Given the description of an element on the screen output the (x, y) to click on. 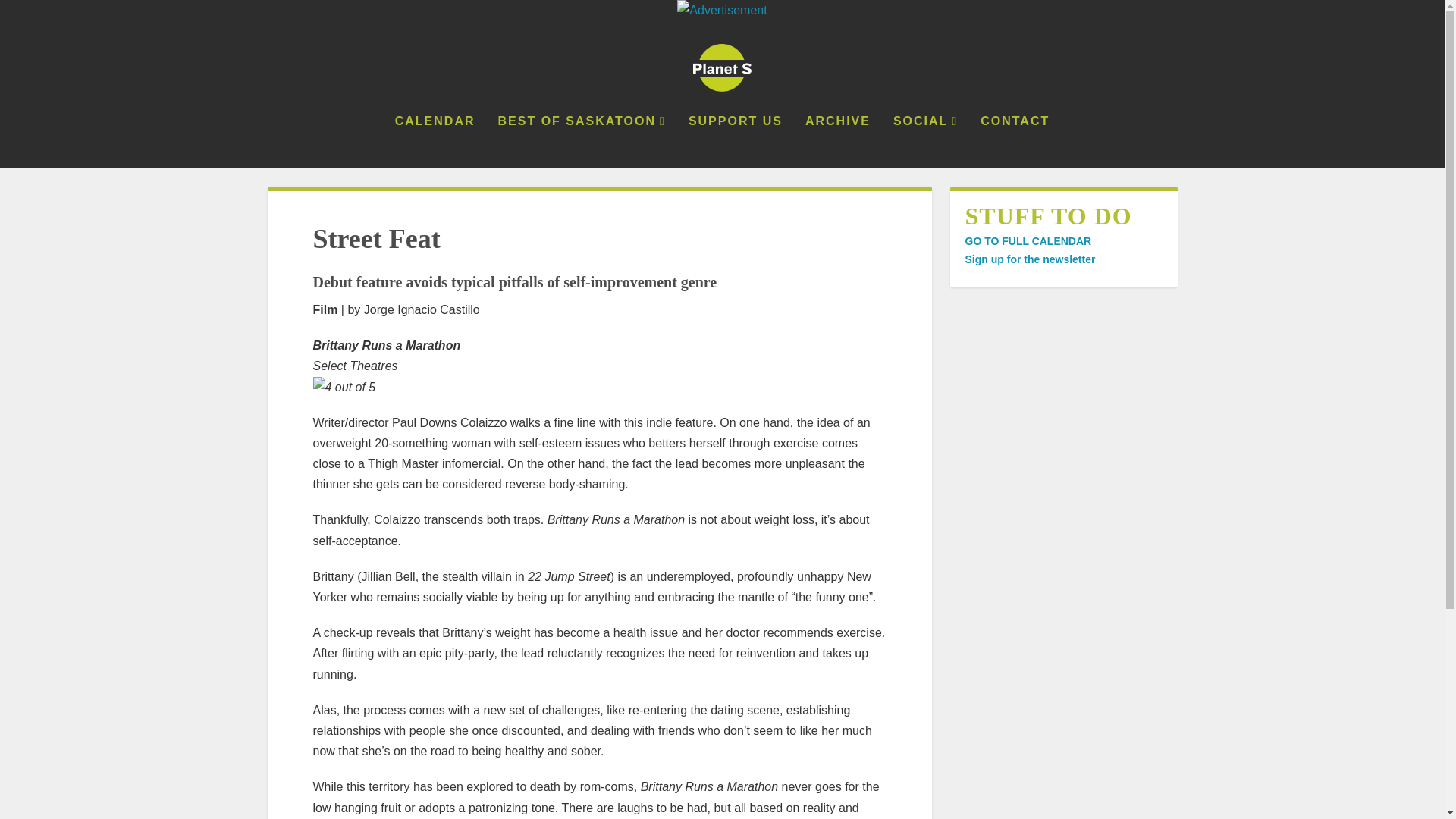
SUPPORT US (735, 141)
CONTACT (1014, 141)
ARCHIVE (837, 141)
BEST OF SASKATOON (581, 141)
CALENDAR (435, 141)
GO TO FULL CALENDAR (1026, 241)
Sign up for the newsletter (1028, 259)
SOCIAL (925, 141)
